Given the description of an element on the screen output the (x, y) to click on. 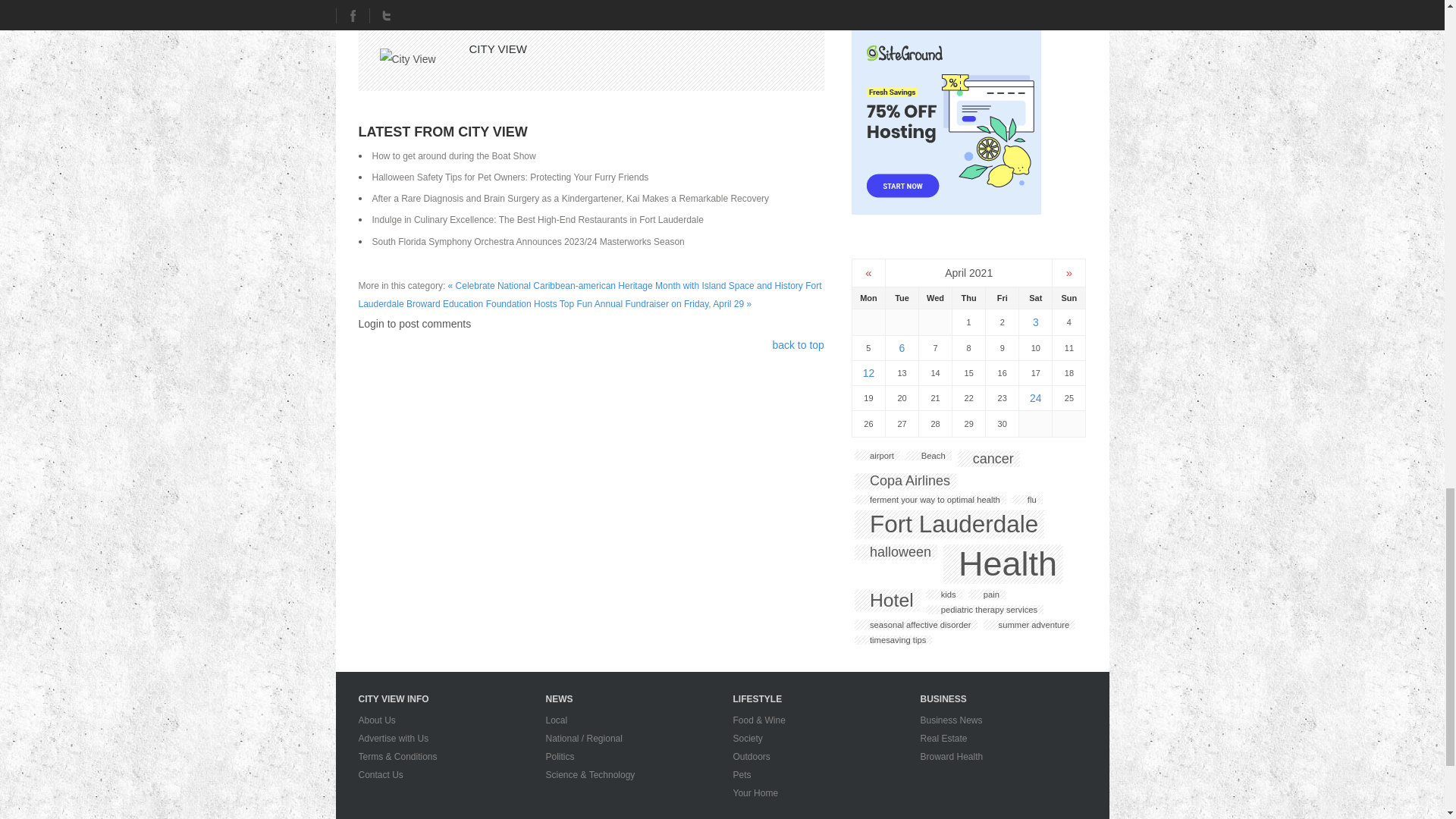
1 items tagged with airport (876, 455)
1 items tagged with kids (944, 593)
1 items tagged with ferment your way to optimal health (930, 499)
6 items tagged with Health (1002, 563)
1 items tagged with pain (987, 593)
2 items tagged with Copa Airlines (905, 480)
1 items tagged with flu (1026, 499)
1 items tagged with Beach (928, 455)
2 items tagged with cancer (989, 458)
1 items tagged with pediatric therapy services (984, 609)
4 items tagged with Fort Lauderdale (948, 524)
2 items tagged with halloween (895, 552)
3 items tagged with Hotel (887, 599)
